Given the description of an element on the screen output the (x, y) to click on. 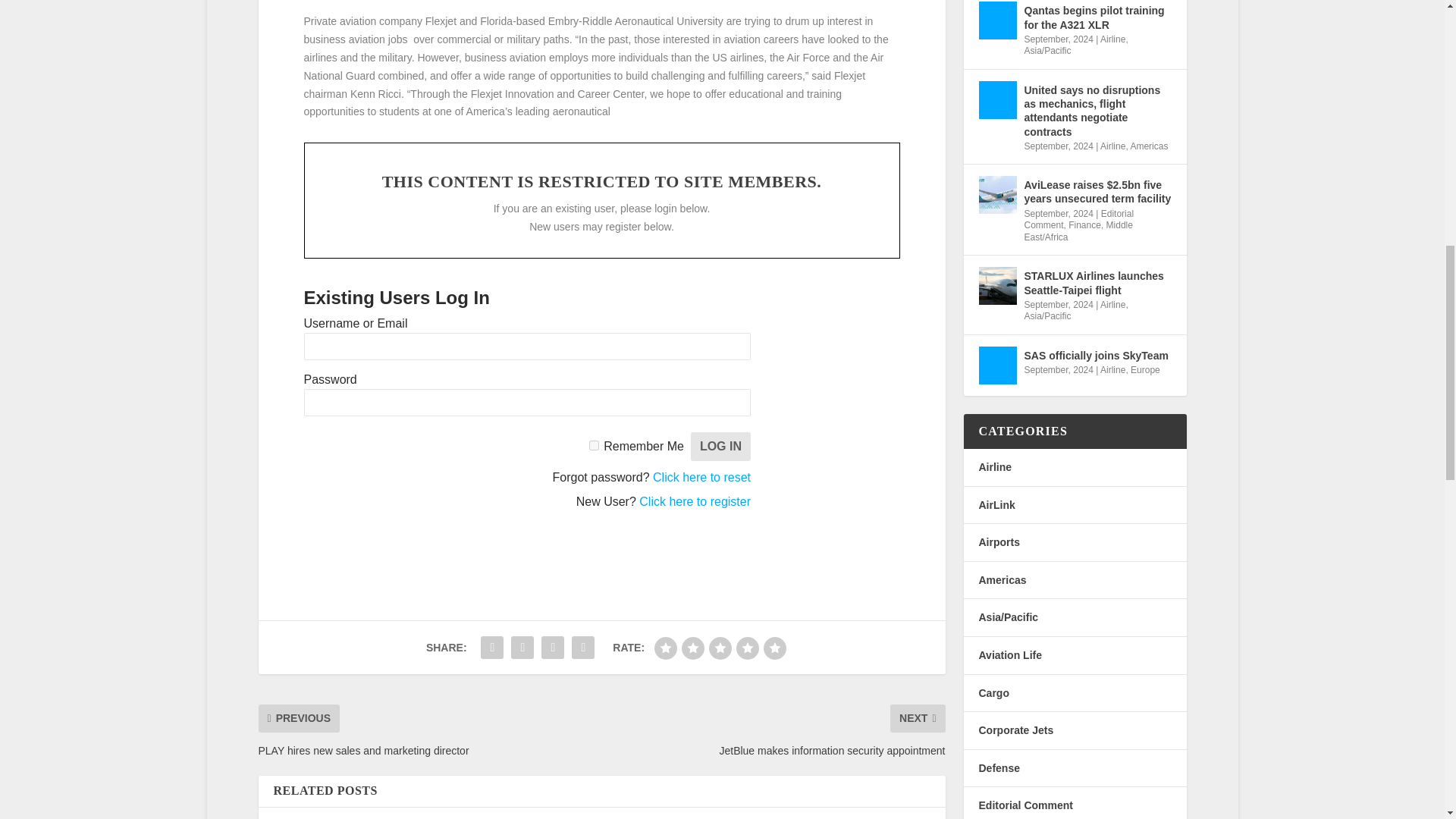
gorgeous (774, 648)
Log In (720, 446)
good (747, 648)
bad (665, 648)
regular (720, 648)
forever (593, 445)
